Given the description of an element on the screen output the (x, y) to click on. 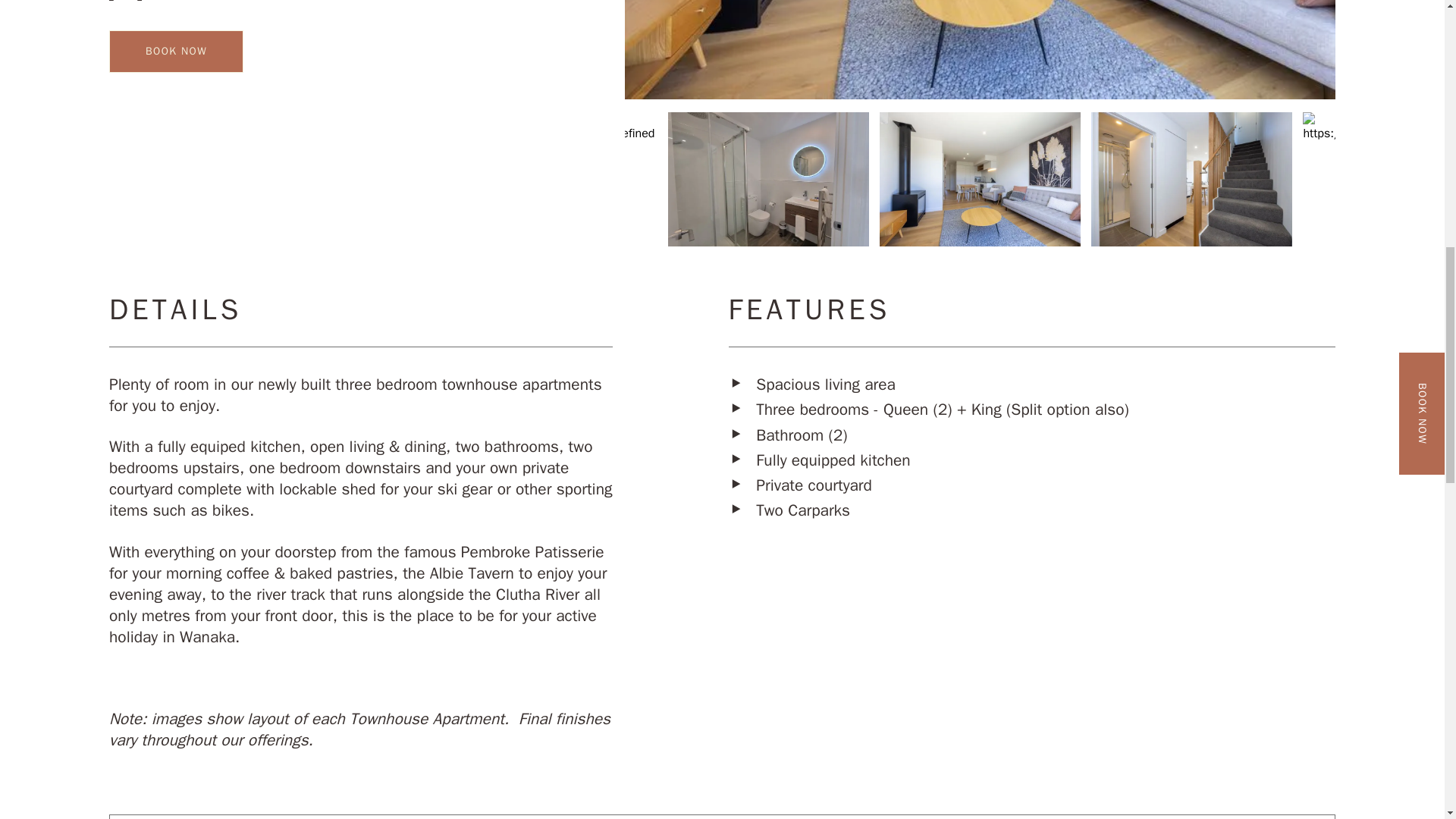
Previous (613, 179)
Next (1346, 179)
BOOK NOW (176, 51)
